Given the description of an element on the screen output the (x, y) to click on. 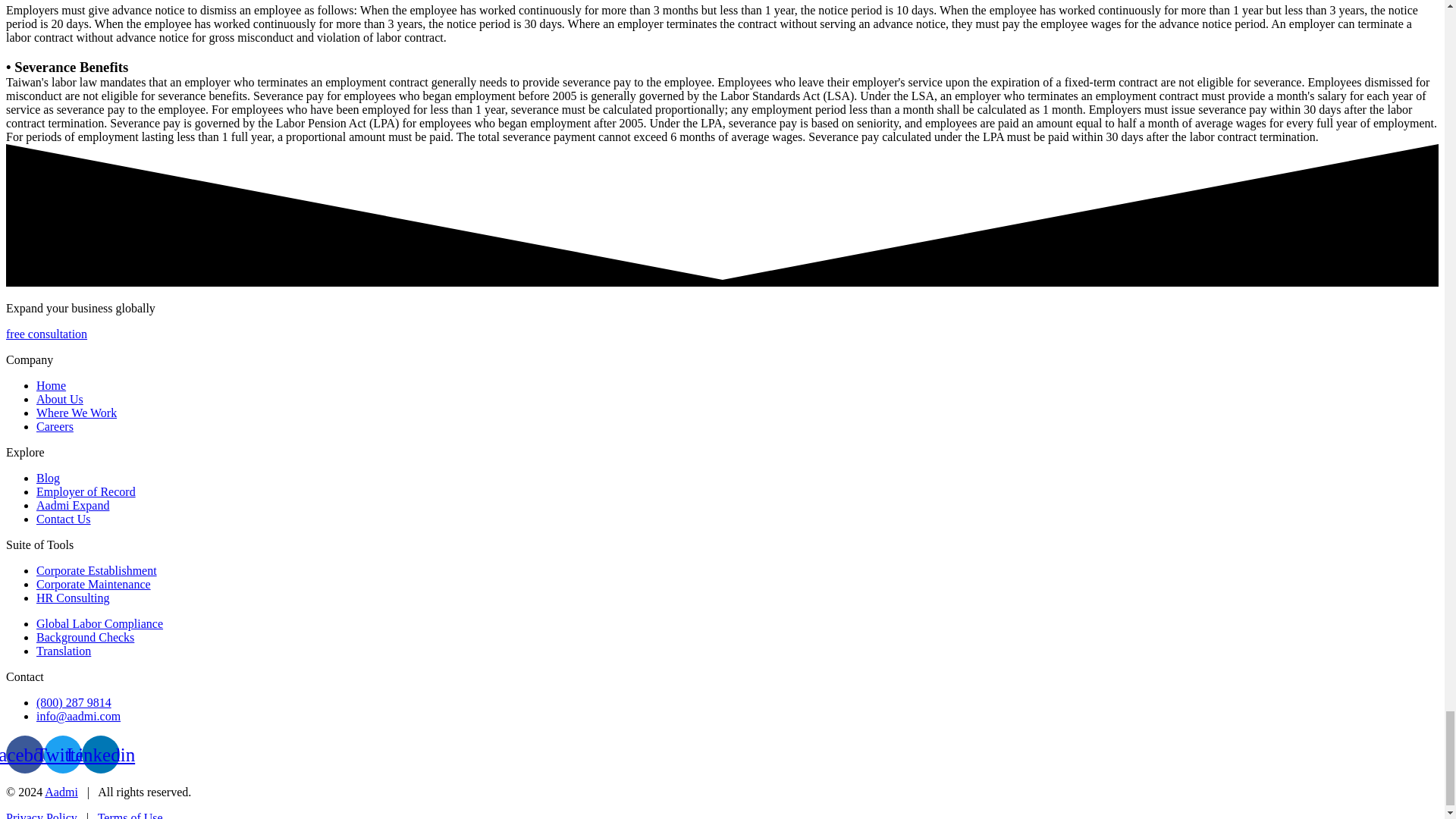
Careers (55, 426)
Home (50, 385)
Employer of Record (85, 491)
free consultation (46, 333)
Where We Work (76, 412)
Blog (47, 477)
About Us (59, 399)
